Given the description of an element on the screen output the (x, y) to click on. 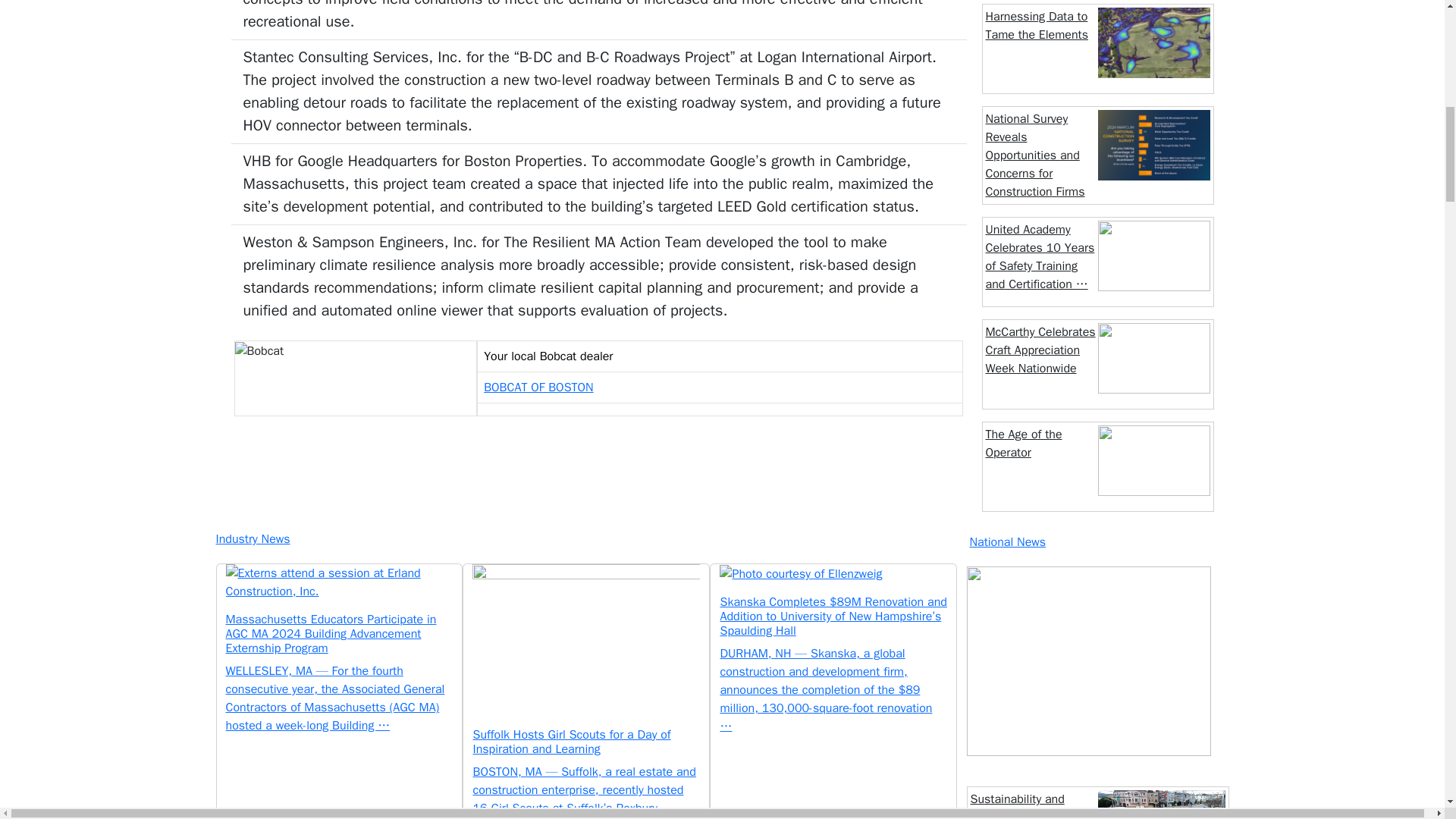
Harnessing Data to Tame the Elements (1037, 25)
The Age of the Operator (1023, 443)
Industry News (584, 538)
BOBCAT OF BOSTON (537, 387)
McCarthy Celebrates Craft Appreciation Week Nationwide (1040, 349)
